Given the description of an element on the screen output the (x, y) to click on. 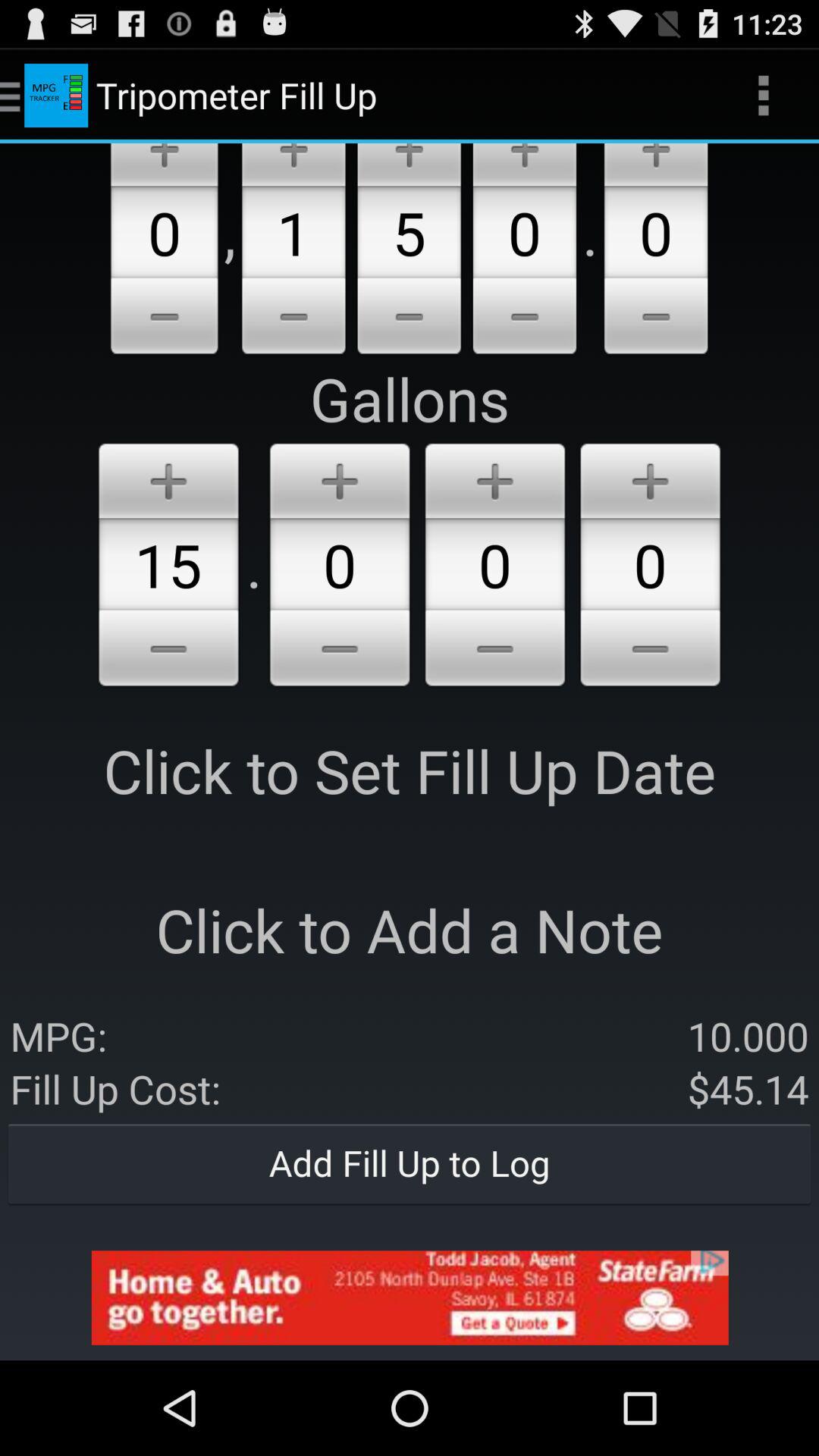
add time setting (650, 478)
